Given the description of an element on the screen output the (x, y) to click on. 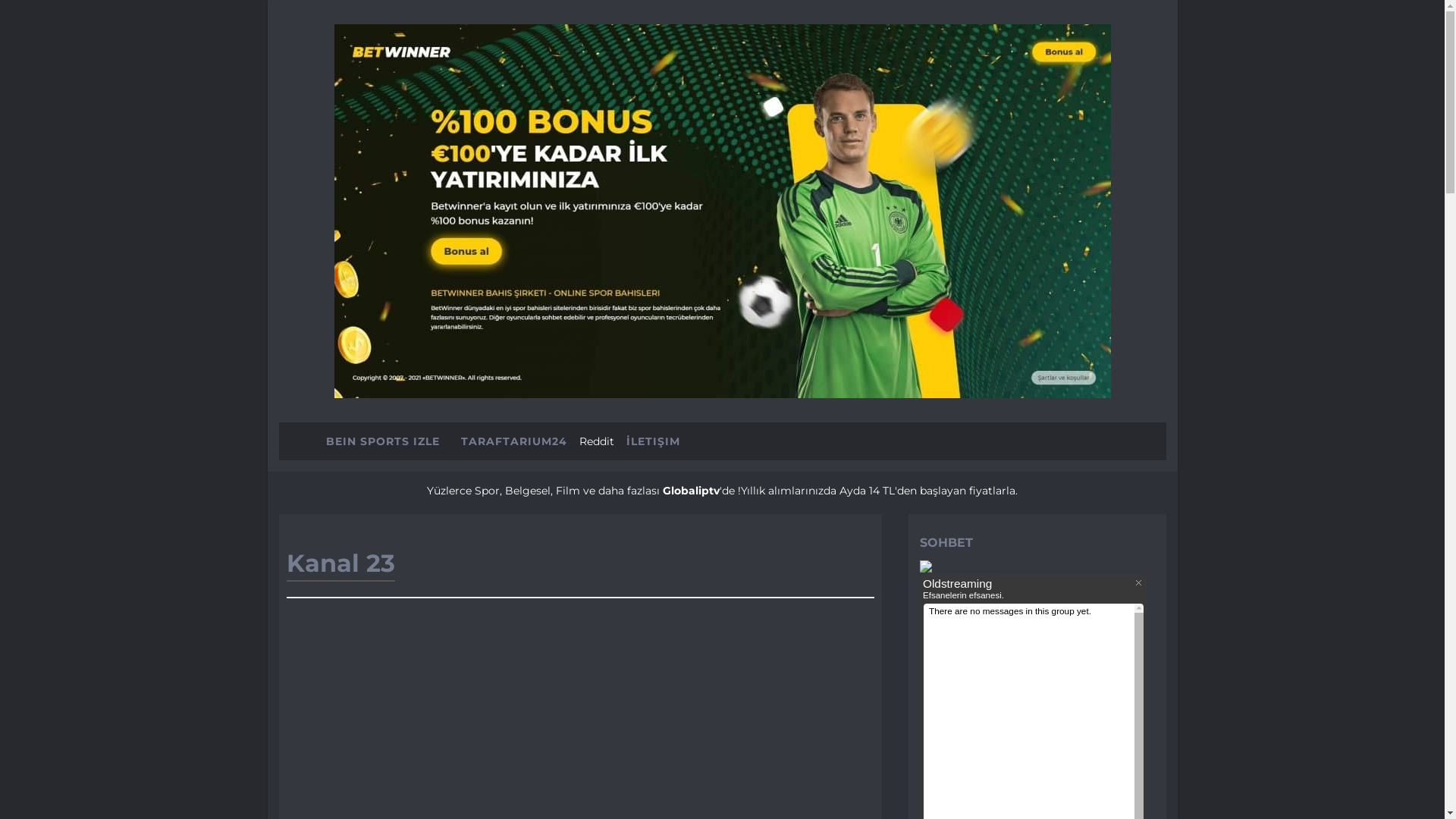
BEIN SPORTS IZLE Element type: text (382, 441)
TARAFTARIUM24 Element type: text (513, 441)
